Given the description of an element on the screen output the (x, y) to click on. 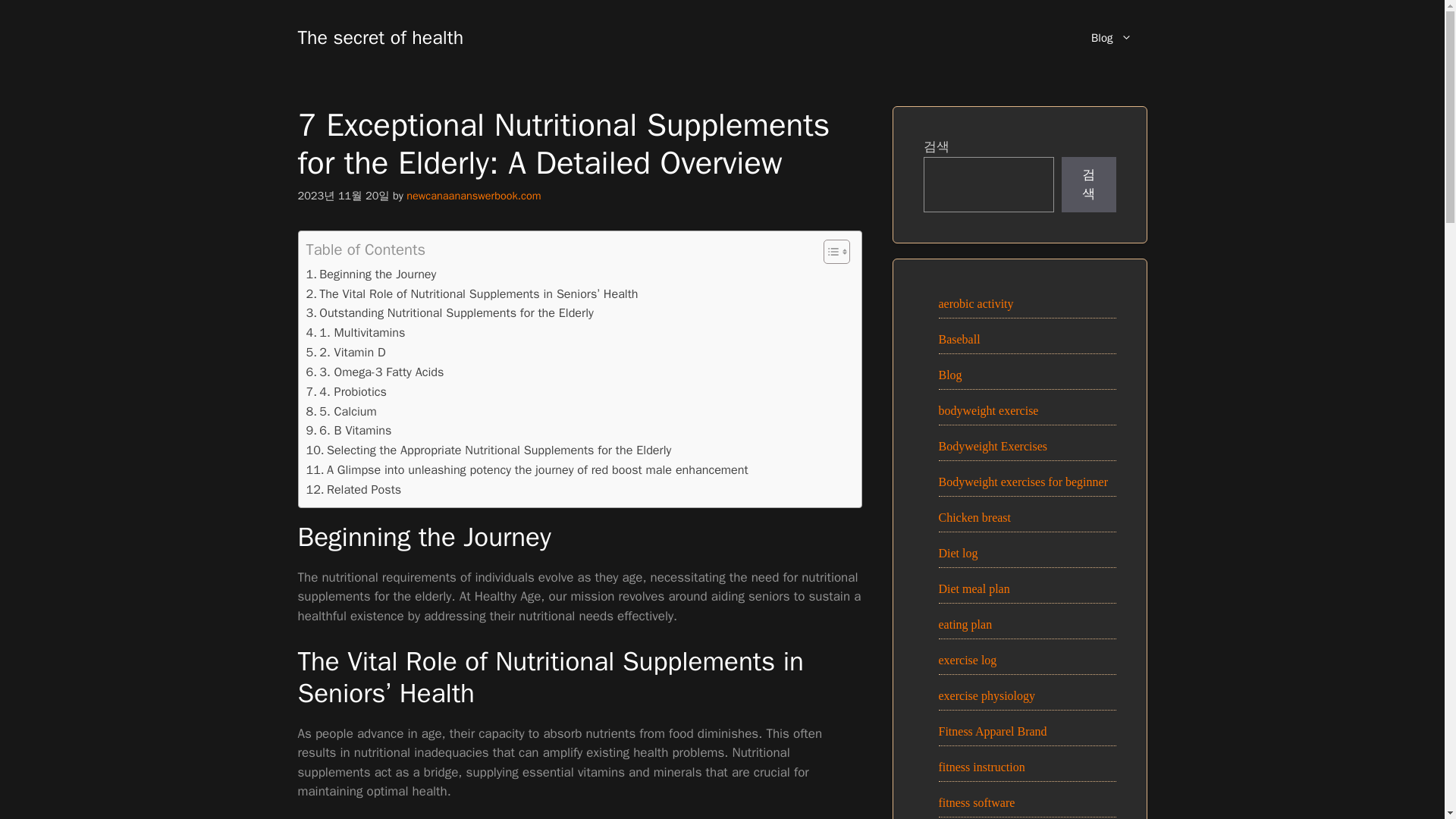
6. B Vitamins (348, 430)
6. B Vitamins (348, 430)
newcanaananswerbook.com (473, 195)
The secret of health (380, 37)
Baseball (959, 338)
3. Omega-3 Fatty Acids (374, 372)
bodyweight exercise (989, 409)
4. Probiotics (346, 392)
Related Posts (353, 489)
2. Vitamin D (345, 352)
3. Omega-3 Fatty Acids (374, 372)
Beginning the Journey (370, 274)
Related Posts (353, 489)
Bodyweight Exercises (993, 445)
View all posts by newcanaananswerbook.com (473, 195)
